Given the description of an element on the screen output the (x, y) to click on. 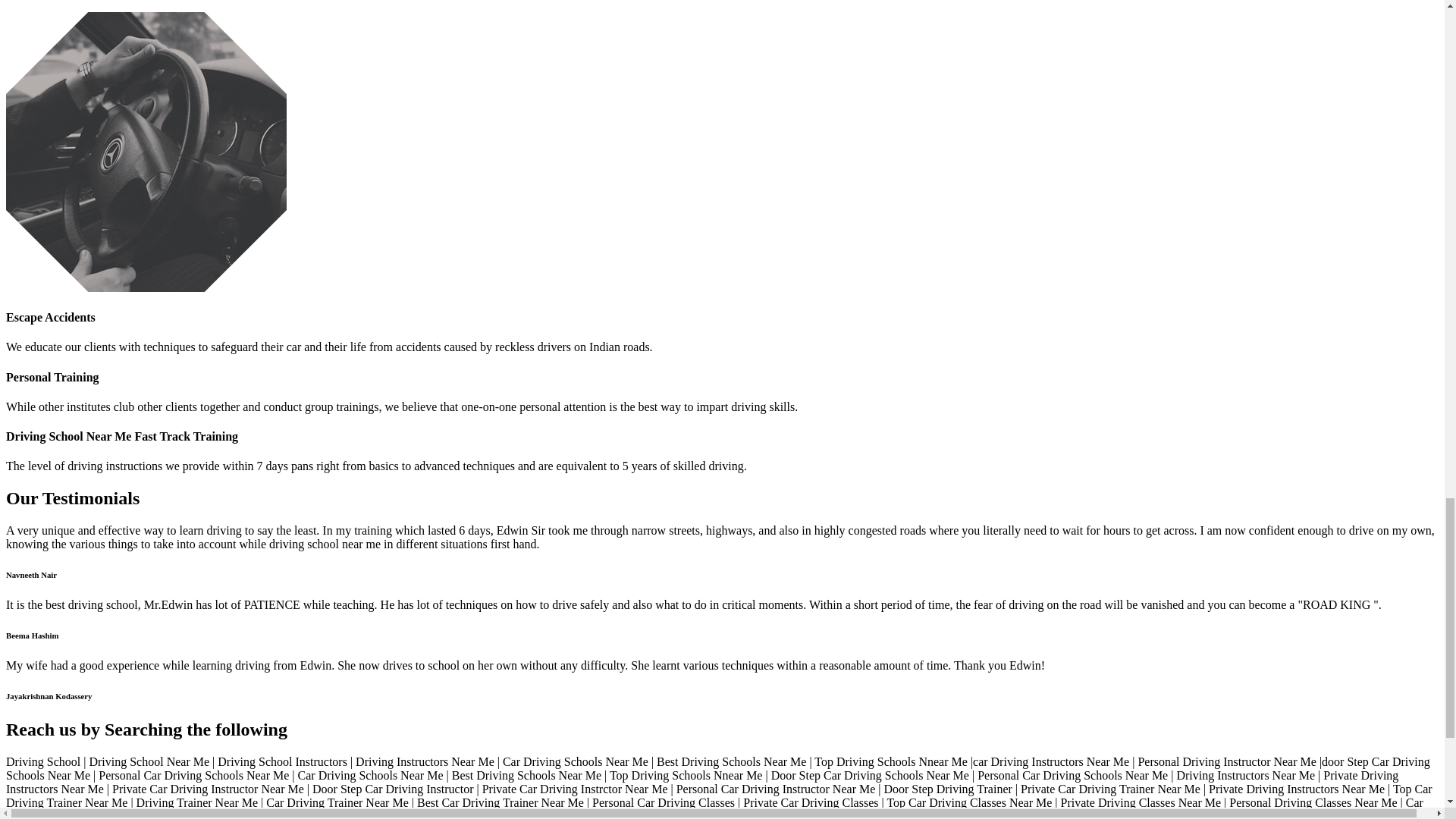
Best driving school near me (145, 151)
